Given the description of an element on the screen output the (x, y) to click on. 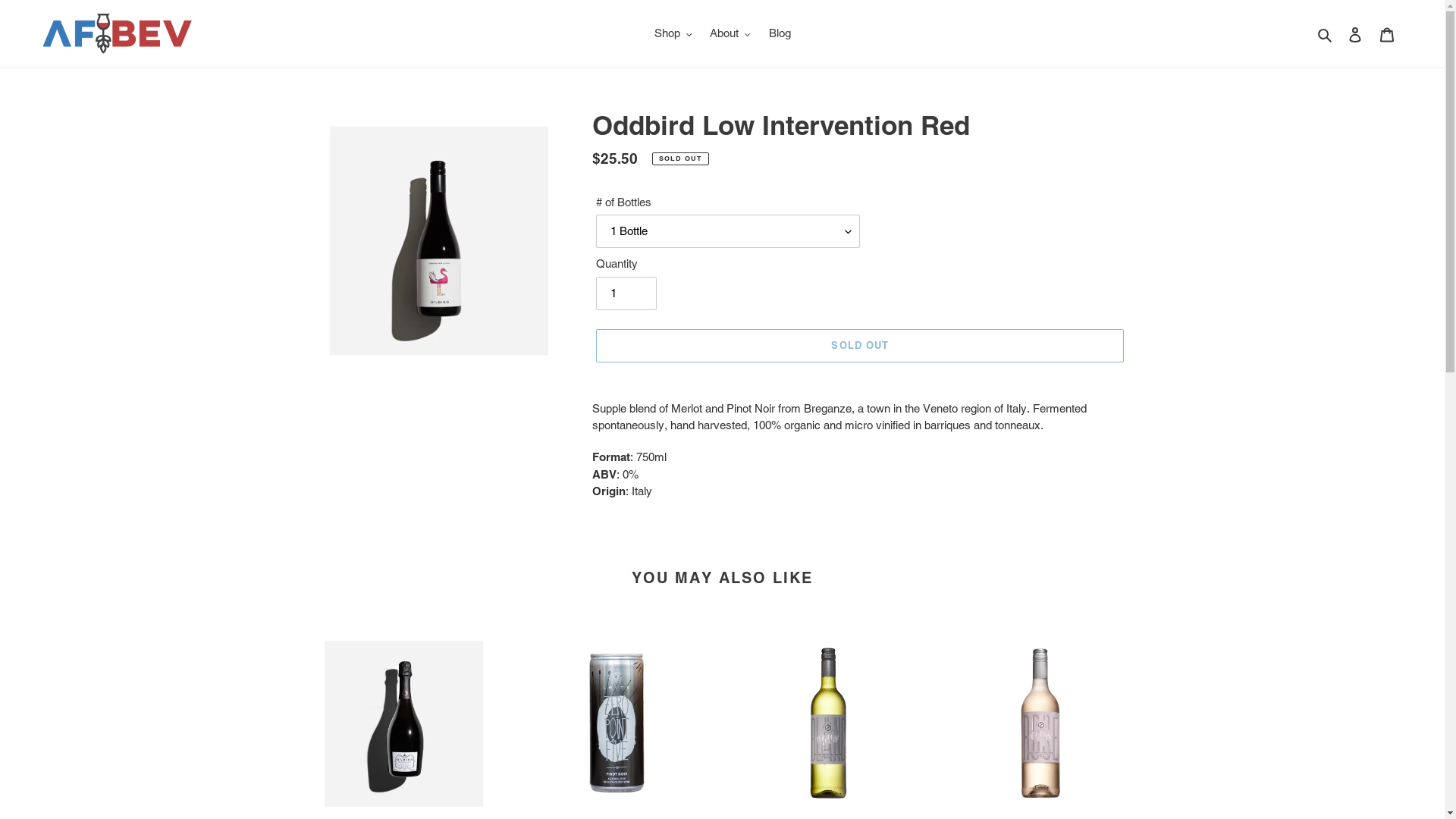
Log in Element type: text (1355, 33)
Cart Element type: text (1386, 33)
Blog Element type: text (779, 33)
SOLD OUT Element type: text (860, 345)
Search Element type: text (1325, 33)
About Element type: text (730, 33)
Shop Element type: text (672, 33)
